Given the description of an element on the screen output the (x, y) to click on. 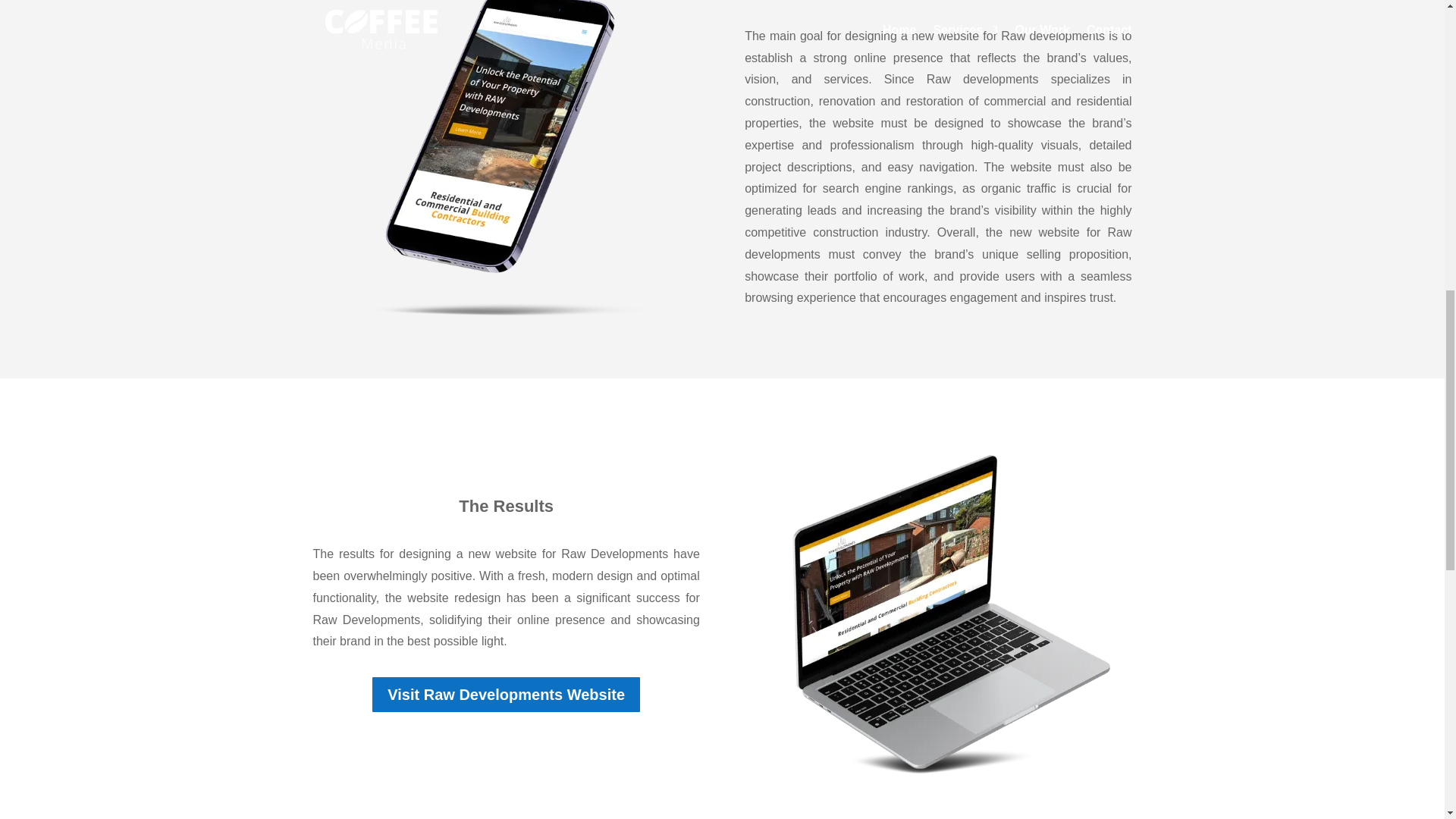
Raw Development Mobile Website design (502, 165)
Visit Raw Developments Website (506, 694)
